Given the description of an element on the screen output the (x, y) to click on. 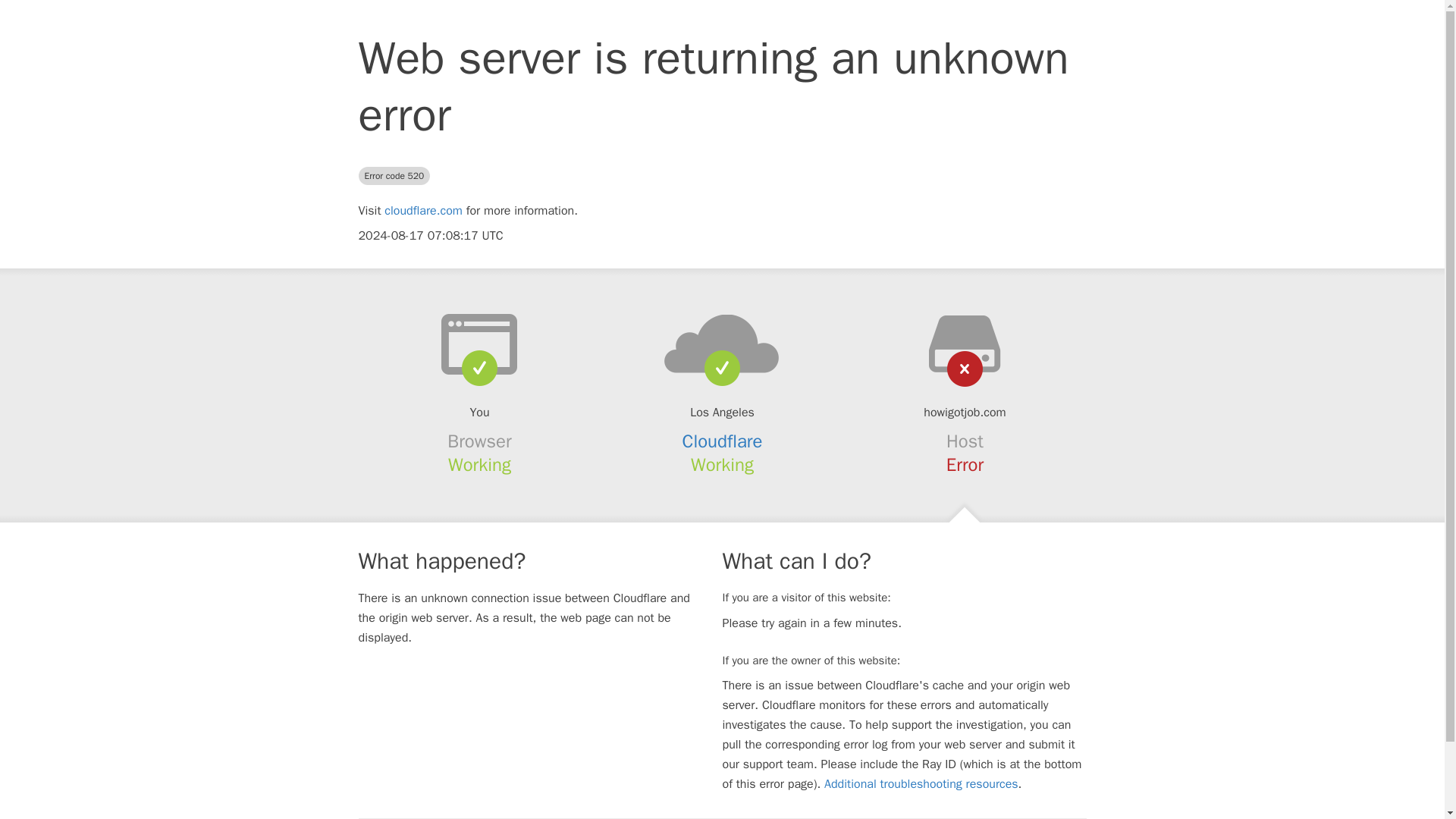
Cloudflare (722, 440)
Additional troubleshooting resources (920, 783)
cloudflare.com (423, 210)
